Given the description of an element on the screen output the (x, y) to click on. 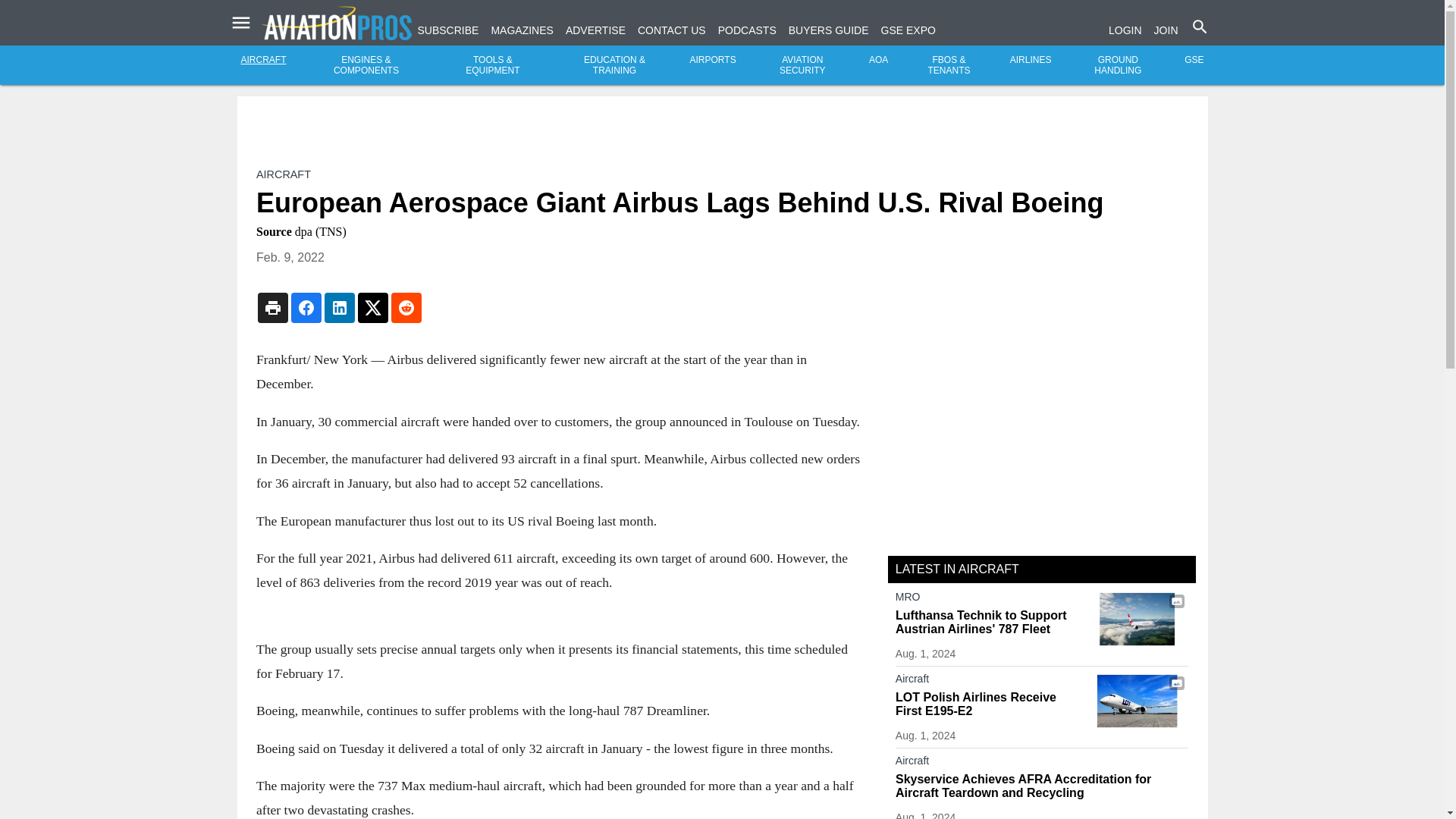
GSE (1194, 59)
BUYERS GUIDE (829, 30)
CONTACT US (671, 30)
AOA (878, 59)
SUBSCRIBE (447, 30)
ADVERTISE (596, 30)
GSE EXPO (908, 30)
AIRPORTS (713, 59)
AIRCRAFT (263, 59)
AVIATION SECURITY (801, 65)
MAGAZINES (521, 30)
AIRLINES (1030, 59)
GROUND HANDLING (1117, 65)
JOIN (1165, 30)
LOGIN (1124, 30)
